Given the description of an element on the screen output the (x, y) to click on. 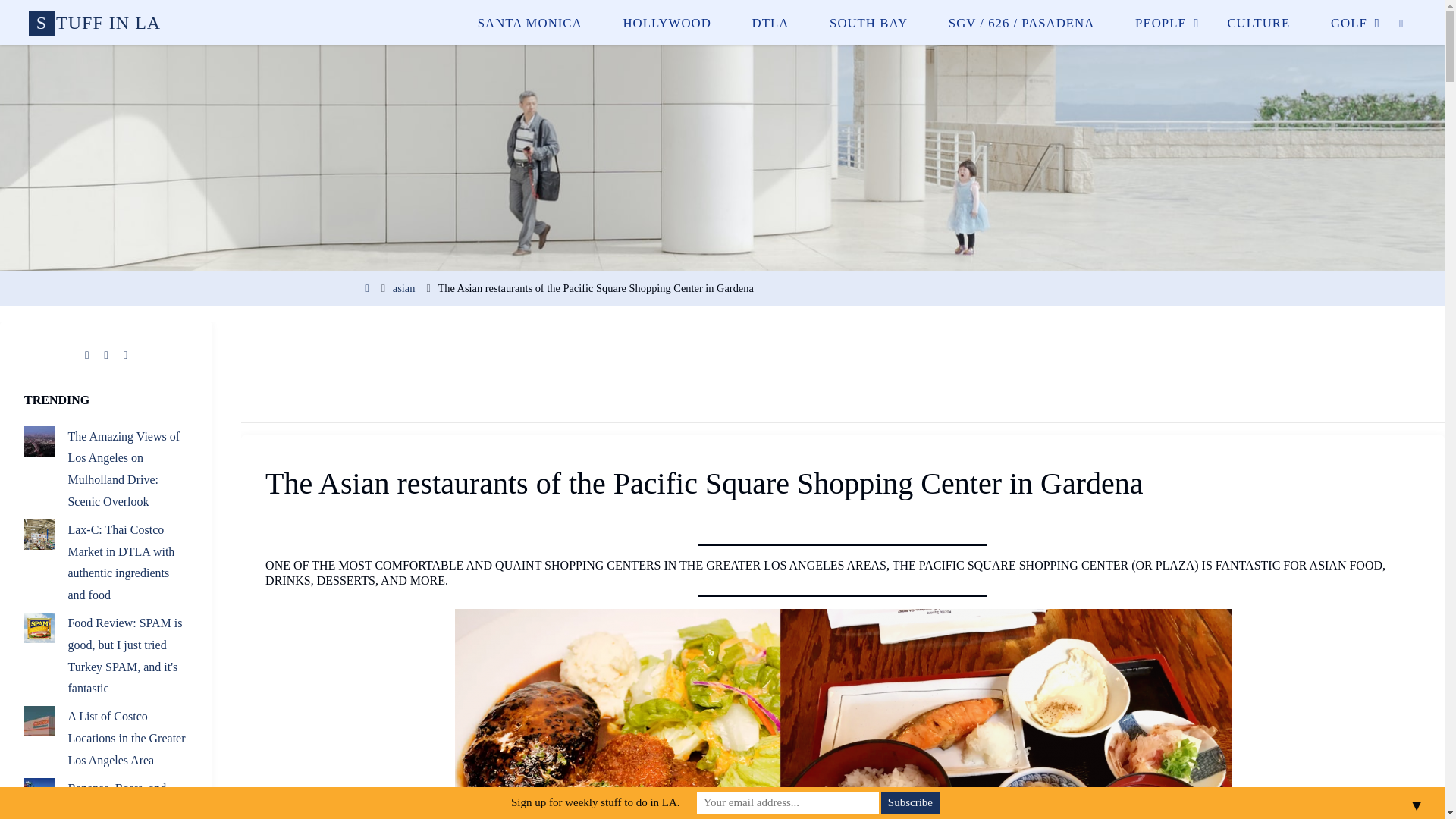
Home (366, 287)
Subscribe (909, 802)
Skip to content (476, 63)
SANTA MONICA (529, 22)
SOUTH BAY (868, 22)
Advertisement (843, 374)
Stuff and Things to Do in Los Angeles (94, 22)
Skip to content (476, 63)
DTLA (770, 22)
STUFF IN LA (94, 22)
HOLLYWOOD (667, 22)
PEOPLE (1161, 22)
